Given the description of an element on the screen output the (x, y) to click on. 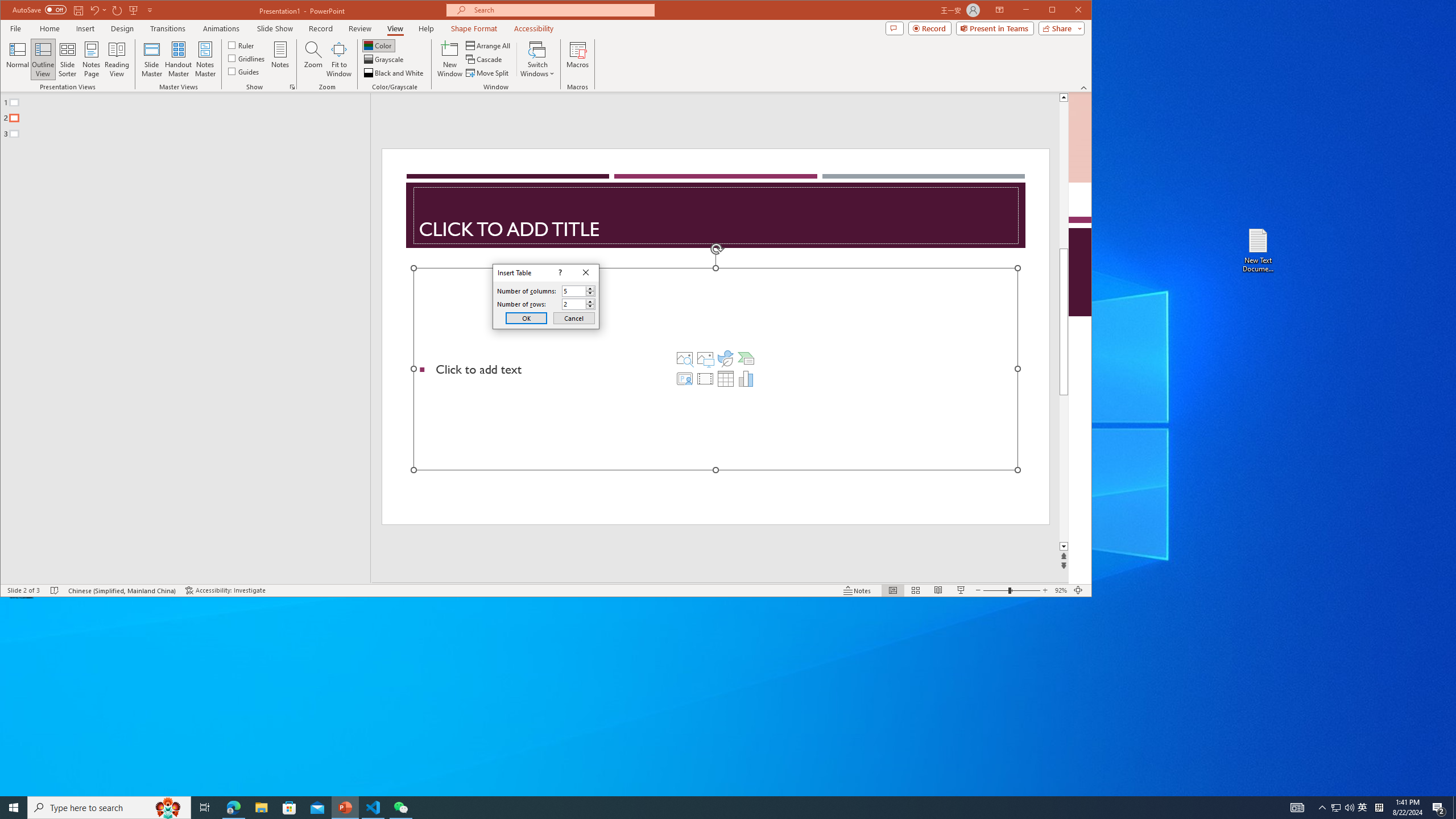
Maximize (1068, 11)
Stock Images (684, 357)
Guides (243, 70)
Fit to Window (338, 59)
Grayscale (384, 59)
Insert Table (725, 378)
Outline View (42, 59)
